Given the description of an element on the screen output the (x, y) to click on. 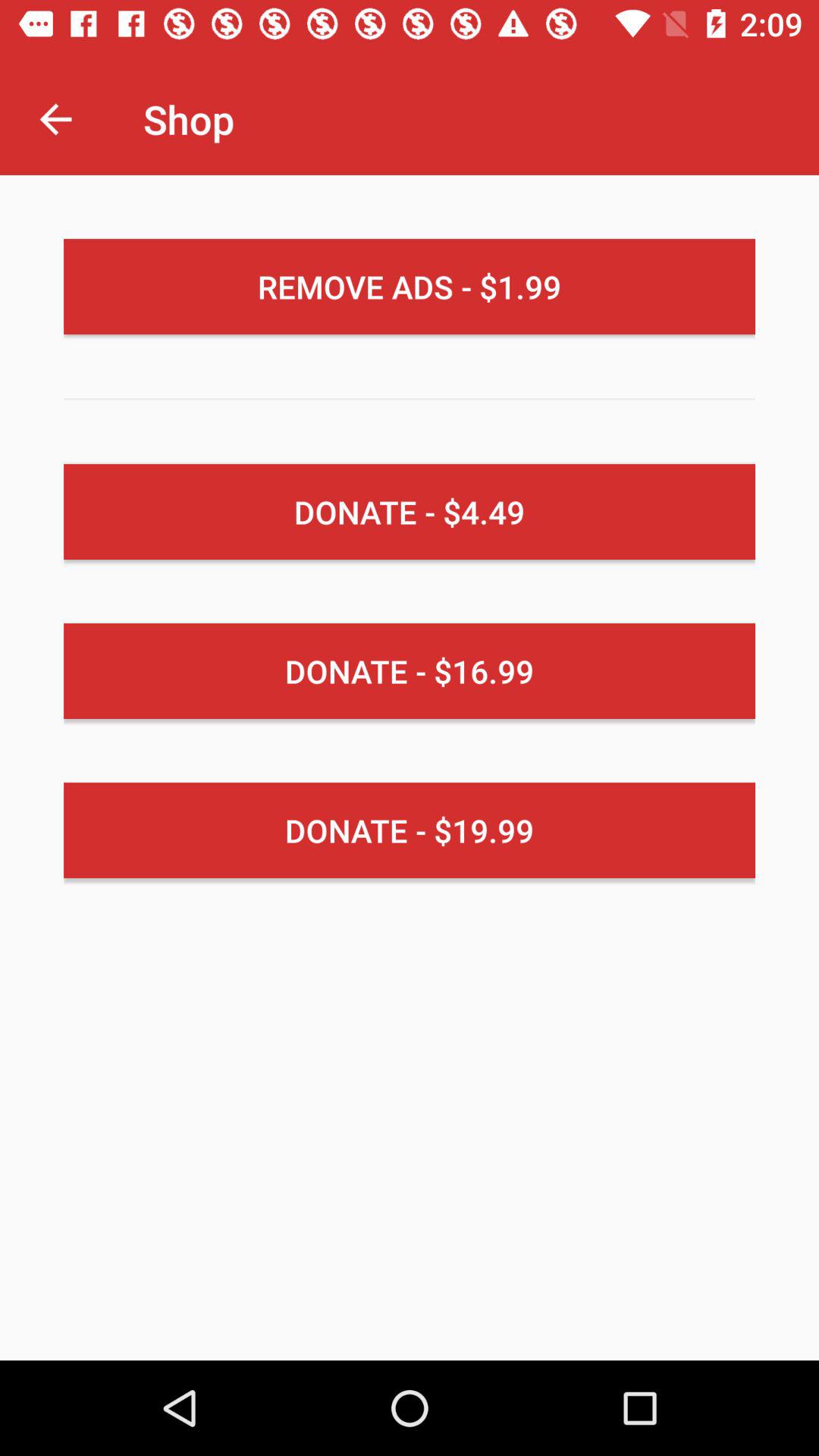
press the remove ads 1 icon (409, 286)
